Given the description of an element on the screen output the (x, y) to click on. 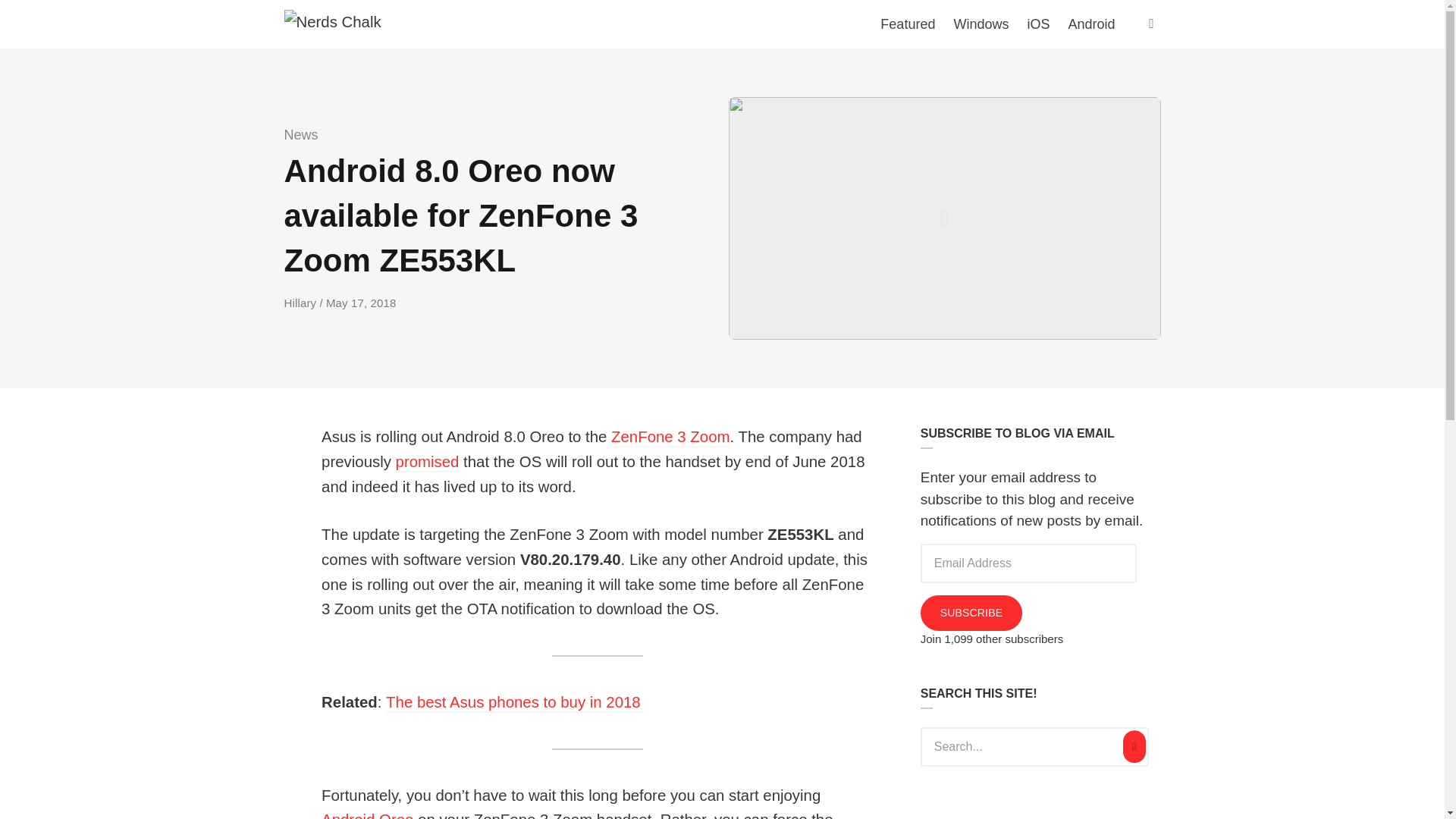
Featured (906, 24)
SUBSCRIBE (971, 613)
Android (1091, 24)
Android Oreo (367, 815)
News (300, 134)
Windows (980, 24)
The best Asus phones to buy in 2018 (512, 702)
Hillary (300, 302)
ZenFone 3 Zoom (670, 437)
promised (428, 462)
